Given the description of an element on the screen output the (x, y) to click on. 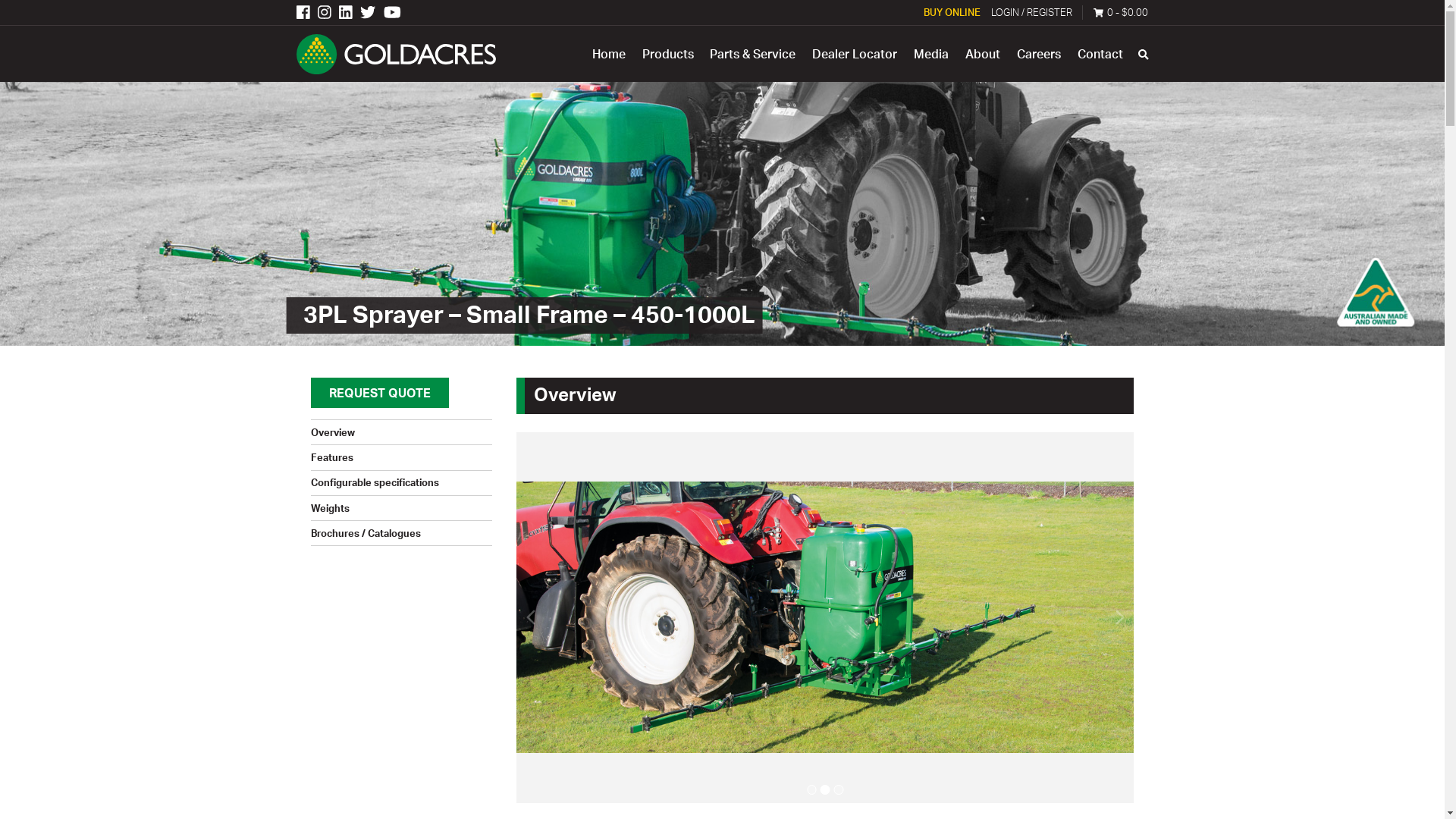
About Element type: text (982, 53)
Home Element type: text (608, 53)
Dealer Locator Element type: text (854, 53)
3pl Small Frame Hero 02 Element type: hover (825, 616)
Parts & Service Element type: text (752, 53)
Brochures / Catalogues Element type: text (365, 532)
0 - $0.00 Element type: text (1120, 11)
Weights Element type: text (329, 507)
3 Element type: text (838, 789)
BUY ONLINE Element type: text (951, 11)
2 Element type: text (825, 789)
Configurable specifications Element type: text (374, 481)
LOGIN / REGISTER Element type: text (1031, 11)
Products Element type: text (667, 53)
1 Element type: text (811, 789)
Careers Element type: text (1038, 53)
Contact Element type: text (1099, 53)
Overview Element type: text (332, 431)
Media Element type: text (931, 53)
Features Element type: text (331, 456)
